Given the description of an element on the screen output the (x, y) to click on. 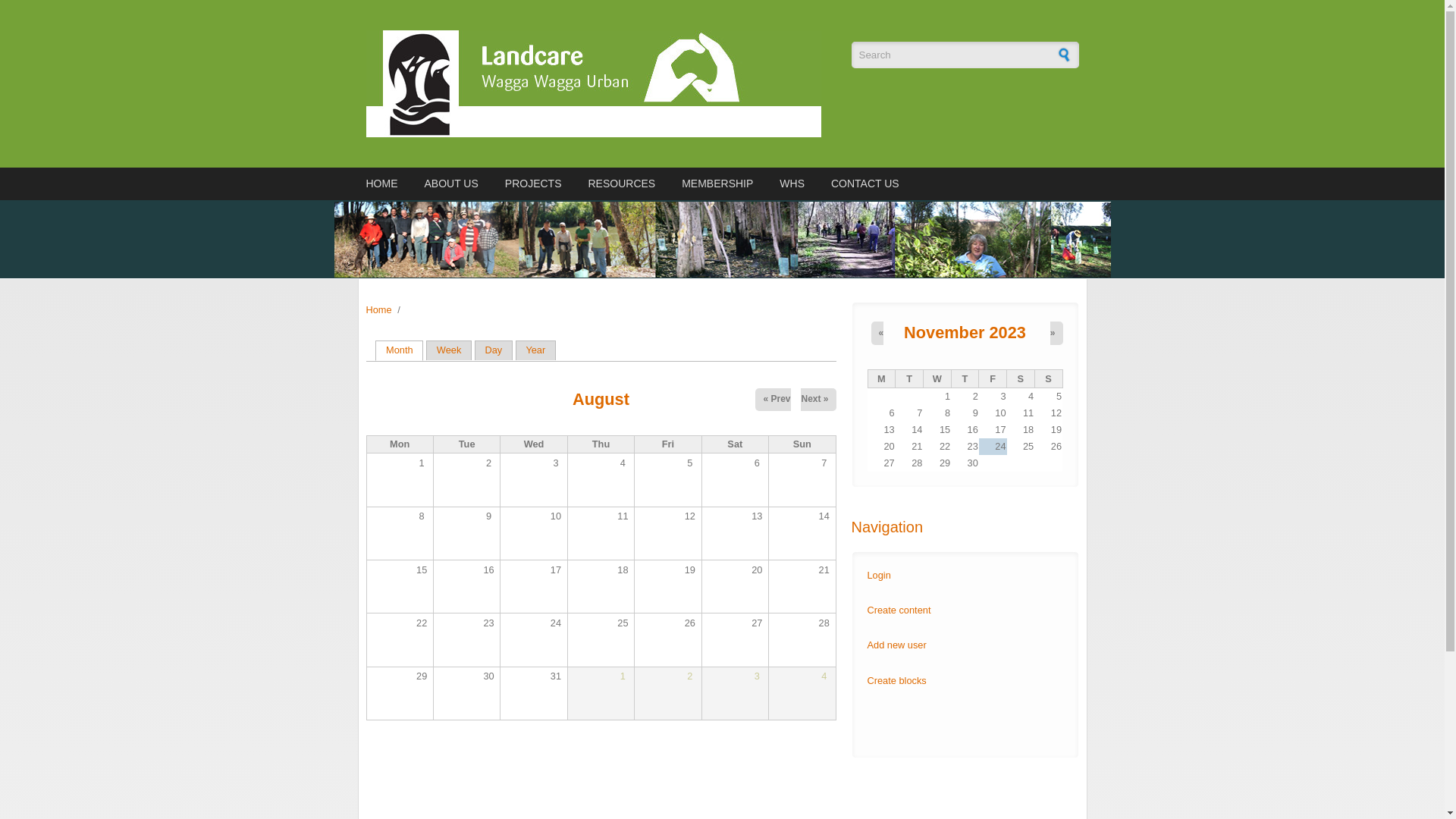
WHS Element type: text (791, 183)
Login Element type: text (879, 574)
Home Element type: hover (600, 83)
MEMBERSHIP Element type: text (716, 183)
HOME Element type: text (383, 183)
Month
(active tab) Element type: text (399, 350)
Home Element type: text (378, 309)
Add new user Element type: text (896, 644)
Week Element type: text (448, 350)
PROJECTS Element type: text (533, 183)
Create content Element type: text (899, 609)
Day Element type: text (493, 350)
Create blocks Element type: text (896, 680)
RESOURCES Element type: text (620, 183)
Year Element type: text (535, 350)
CONTACT US Element type: text (863, 183)
Skip to main content Element type: text (43, 0)
ABOUT US Element type: text (450, 183)
November 2023 Element type: text (964, 332)
